Given the description of an element on the screen output the (x, y) to click on. 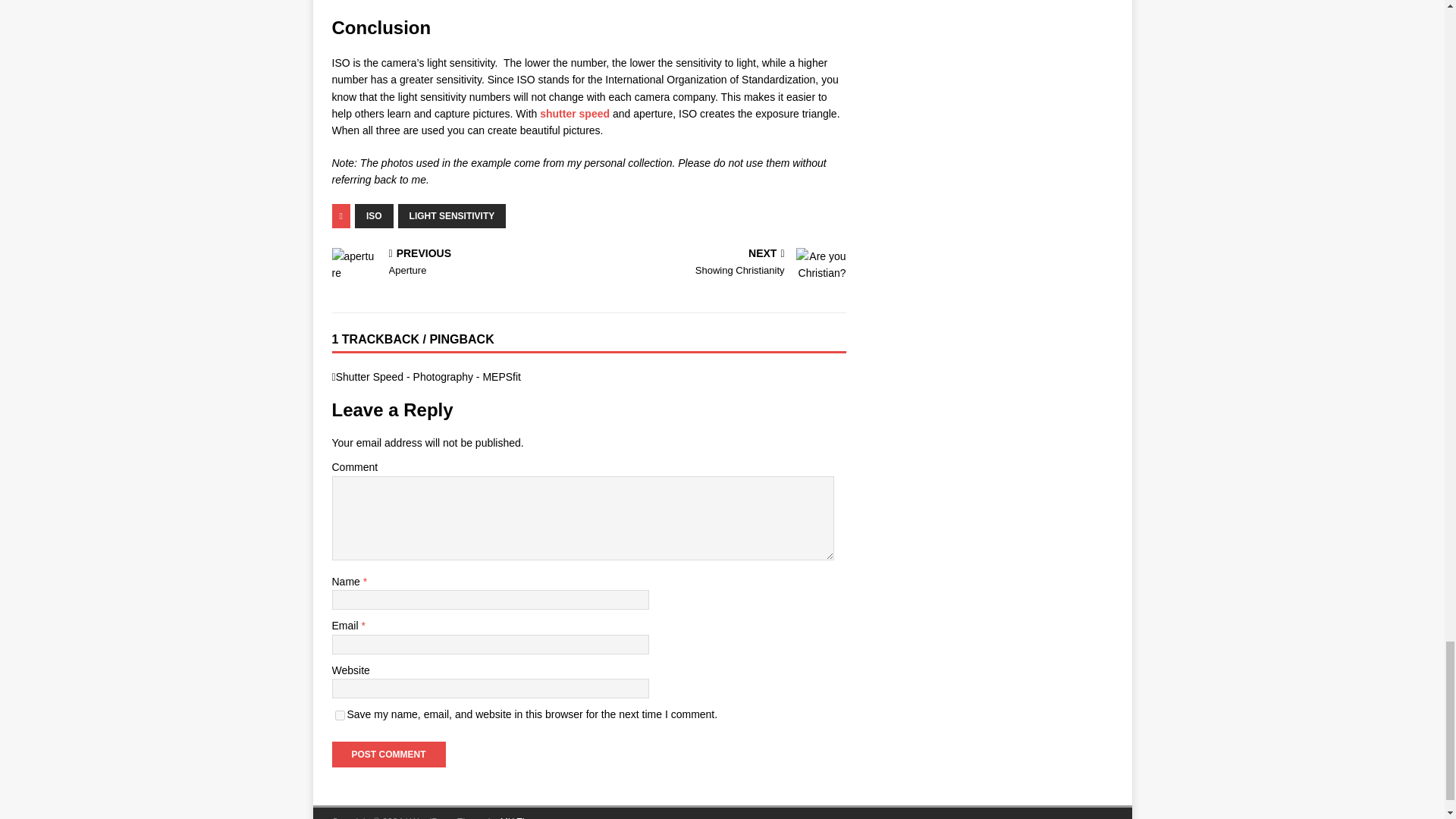
ISO (720, 263)
Post Comment (457, 263)
shutter speed (374, 215)
LIGHT SENSITIVITY (388, 754)
Post Comment (575, 113)
yes (451, 215)
Shutter Speed - Photography - MEPSfit (388, 754)
